Given the description of an element on the screen output the (x, y) to click on. 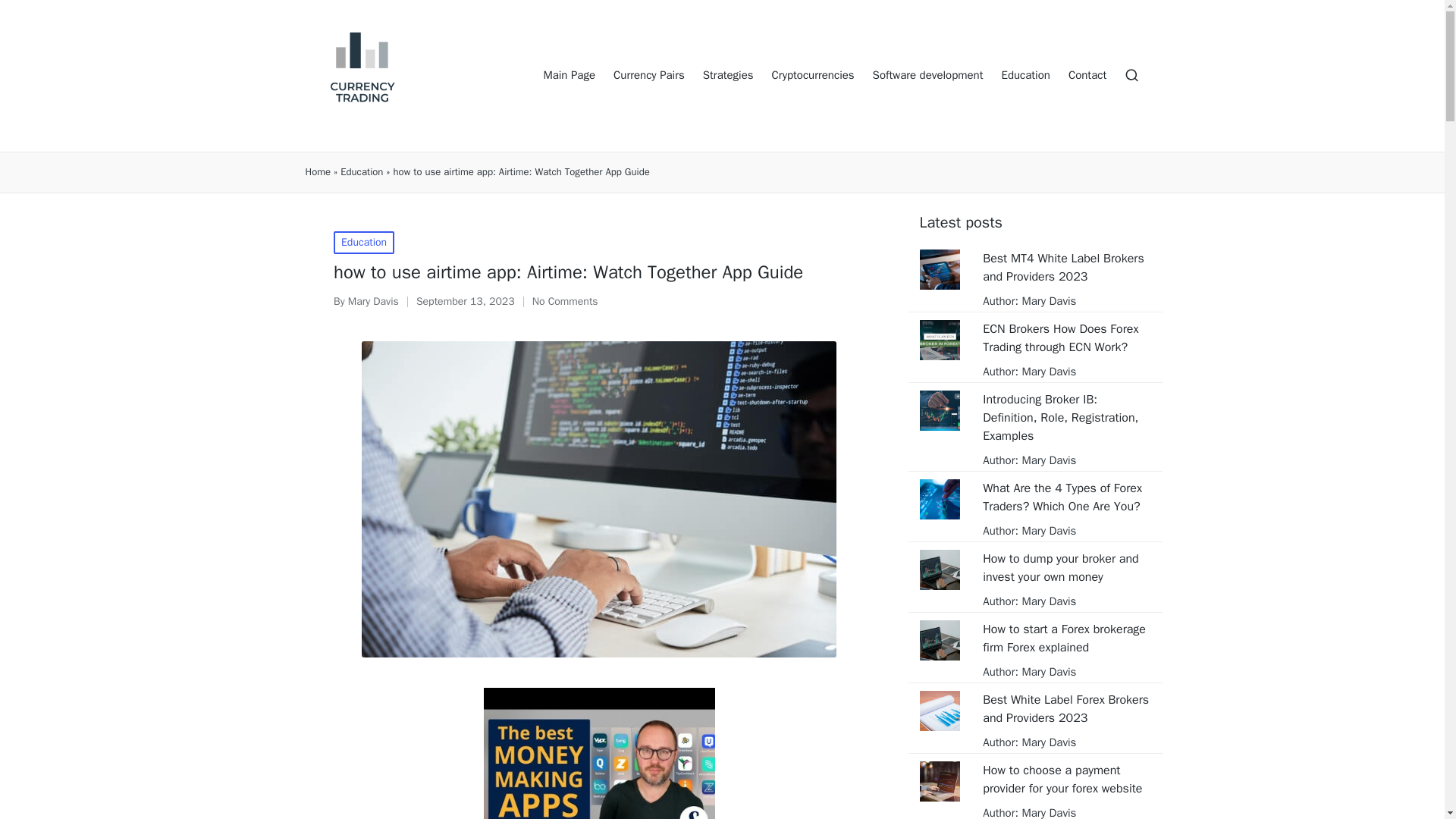
How to start a Forex brokerage firm Forex explained (1066, 637)
Best MT4 White Label Brokers and Providers 2023 (1066, 267)
Currency Pairs (648, 75)
Strategies (728, 75)
Education (1025, 75)
Mary Davis (1046, 530)
Software development (928, 75)
Contact (1087, 75)
No Comments (565, 301)
